Given the description of an element on the screen output the (x, y) to click on. 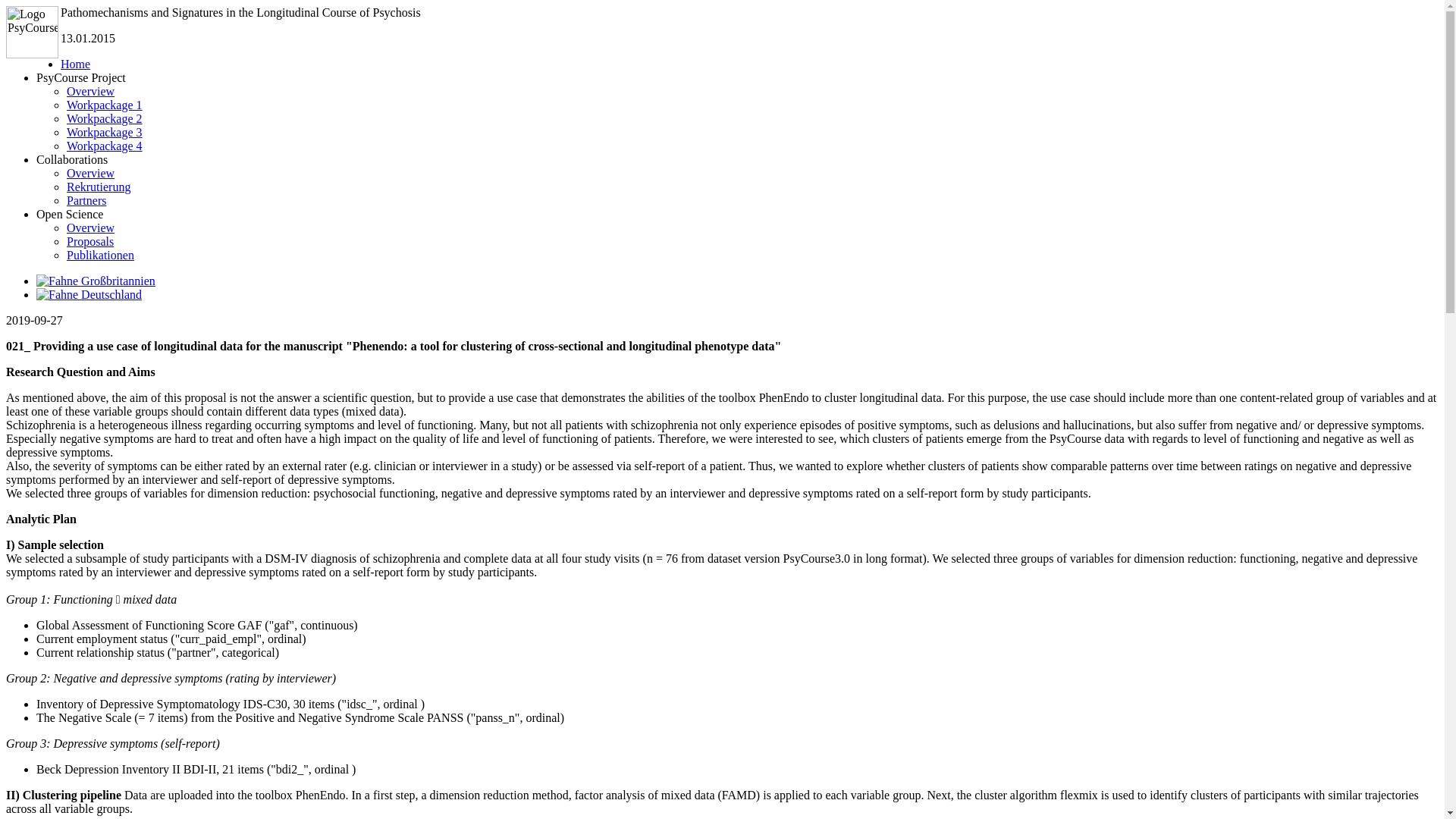
PSYCOURSE PROJECT (514, 147)
OPEN SCIENCE (846, 147)
HOME (348, 147)
COLLABORATIONS (680, 147)
